Given the description of an element on the screen output the (x, y) to click on. 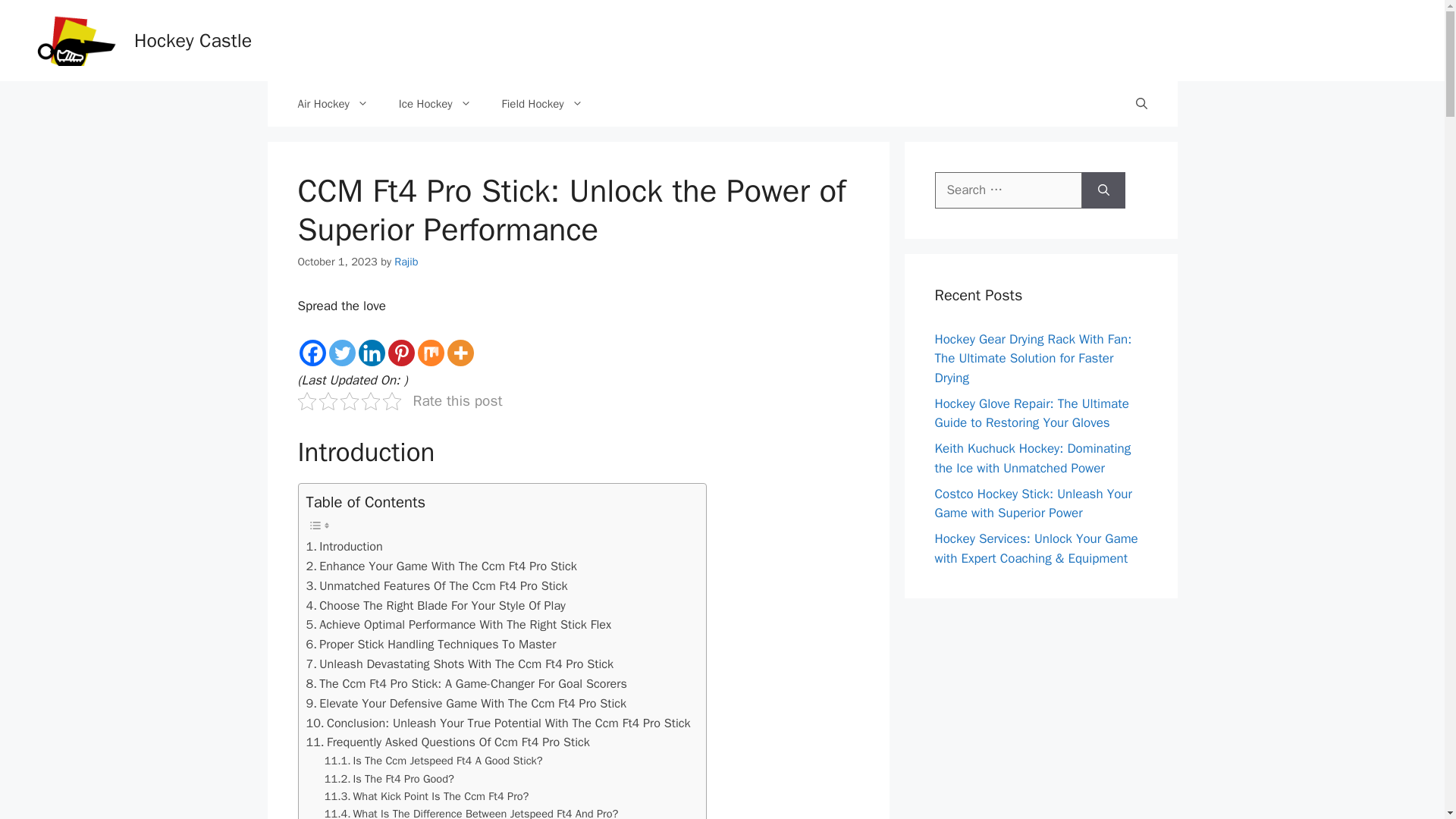
Introduction (343, 546)
Air Hockey (332, 103)
Enhance Your Game With The Ccm Ft4 Pro Stick (440, 566)
Proper Stick Handling Techniques To Master (430, 644)
Hockey Castle (192, 40)
Achieve Optimal Performance With The Right Stick Flex (458, 624)
View all posts by Rajib (405, 261)
Ice Hockey (435, 103)
Unmatched Features Of The Ccm Ft4 Pro Stick (436, 586)
Choose The Right Blade For Your Style Of Play (435, 605)
